Given the description of an element on the screen output the (x, y) to click on. 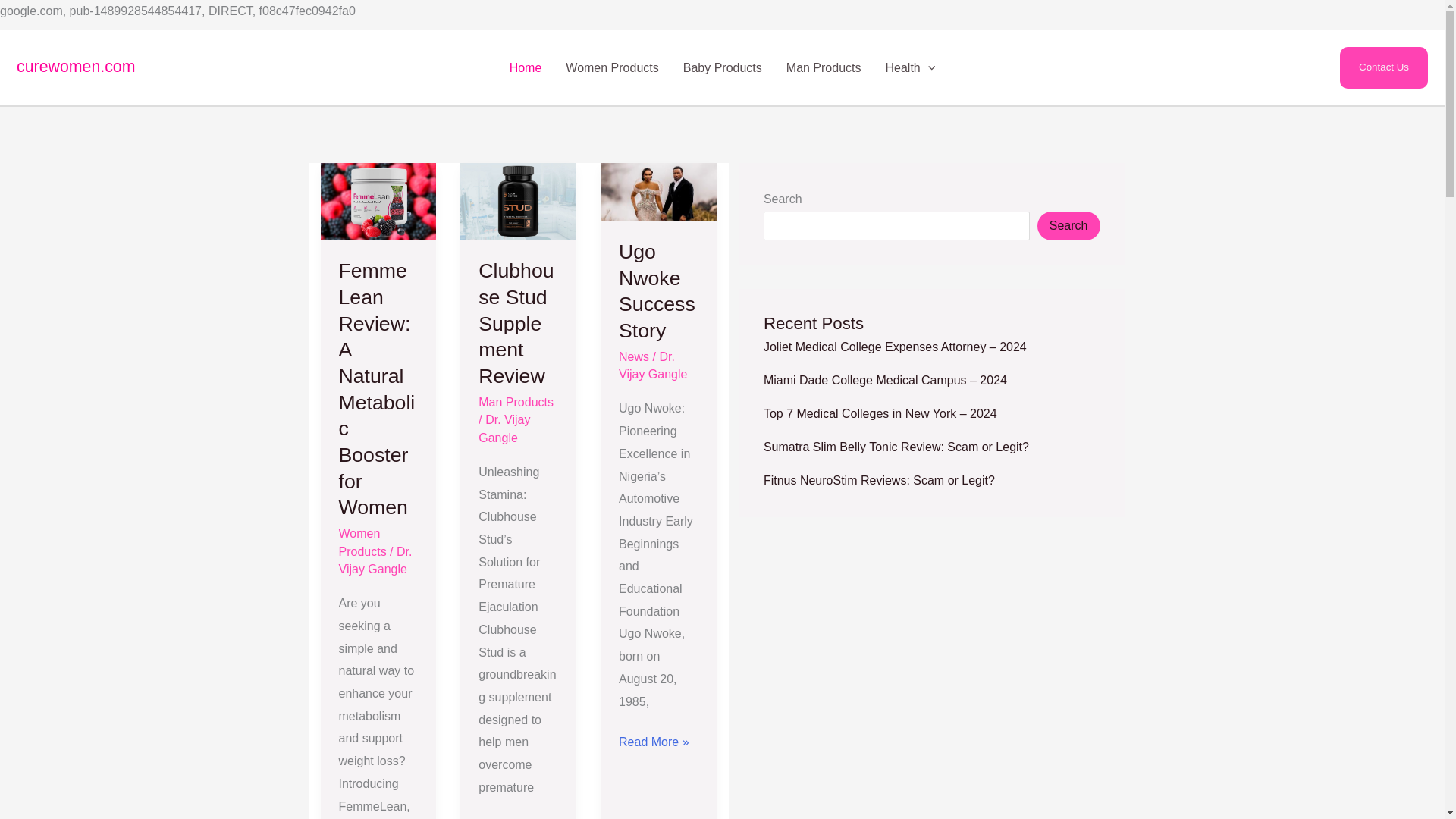
Man Products (823, 67)
View all posts by Dr. Vijay Gangle (504, 428)
Dr. Vijay Gangle (652, 365)
Baby Products (722, 67)
Dr. Vijay Gangle (374, 560)
View all posts by Dr. Vijay Gangle (374, 560)
Dr. Vijay Gangle (504, 428)
curewomen.com (75, 66)
View all posts by Dr. Vijay Gangle (652, 365)
News (633, 356)
Contact Us (1383, 67)
Man Products (516, 401)
Women Products (361, 542)
Health (910, 67)
Women Products (611, 67)
